Given the description of an element on the screen output the (x, y) to click on. 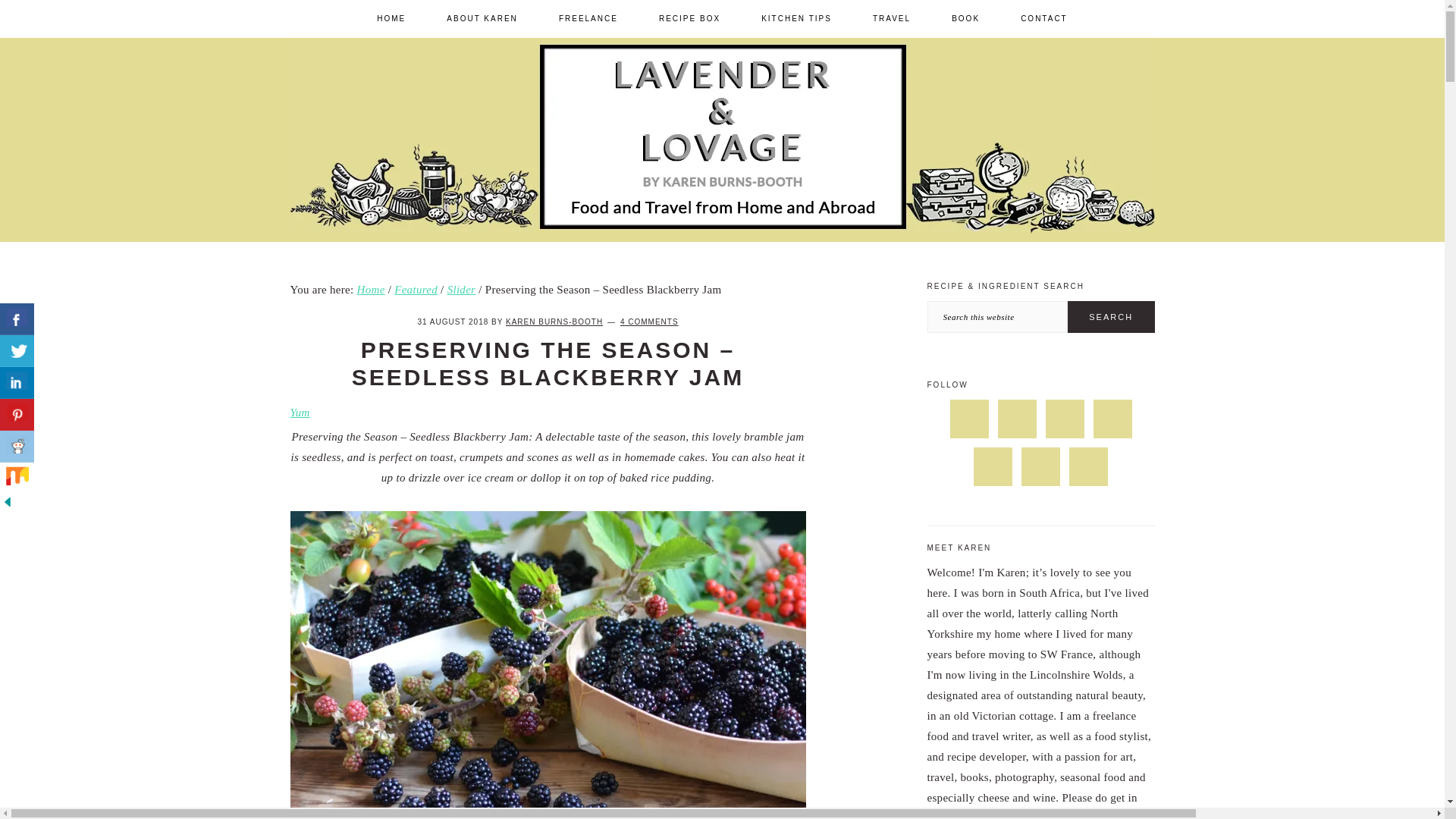
Share On Linkedin (16, 382)
4 COMMENTS (649, 321)
Share On Reddit (16, 446)
TRAVEL (891, 18)
ABOUT KAREN (482, 18)
KITCHEN TIPS (796, 18)
BOOK (965, 18)
HOME (391, 18)
Featured (416, 289)
